Given the description of an element on the screen output the (x, y) to click on. 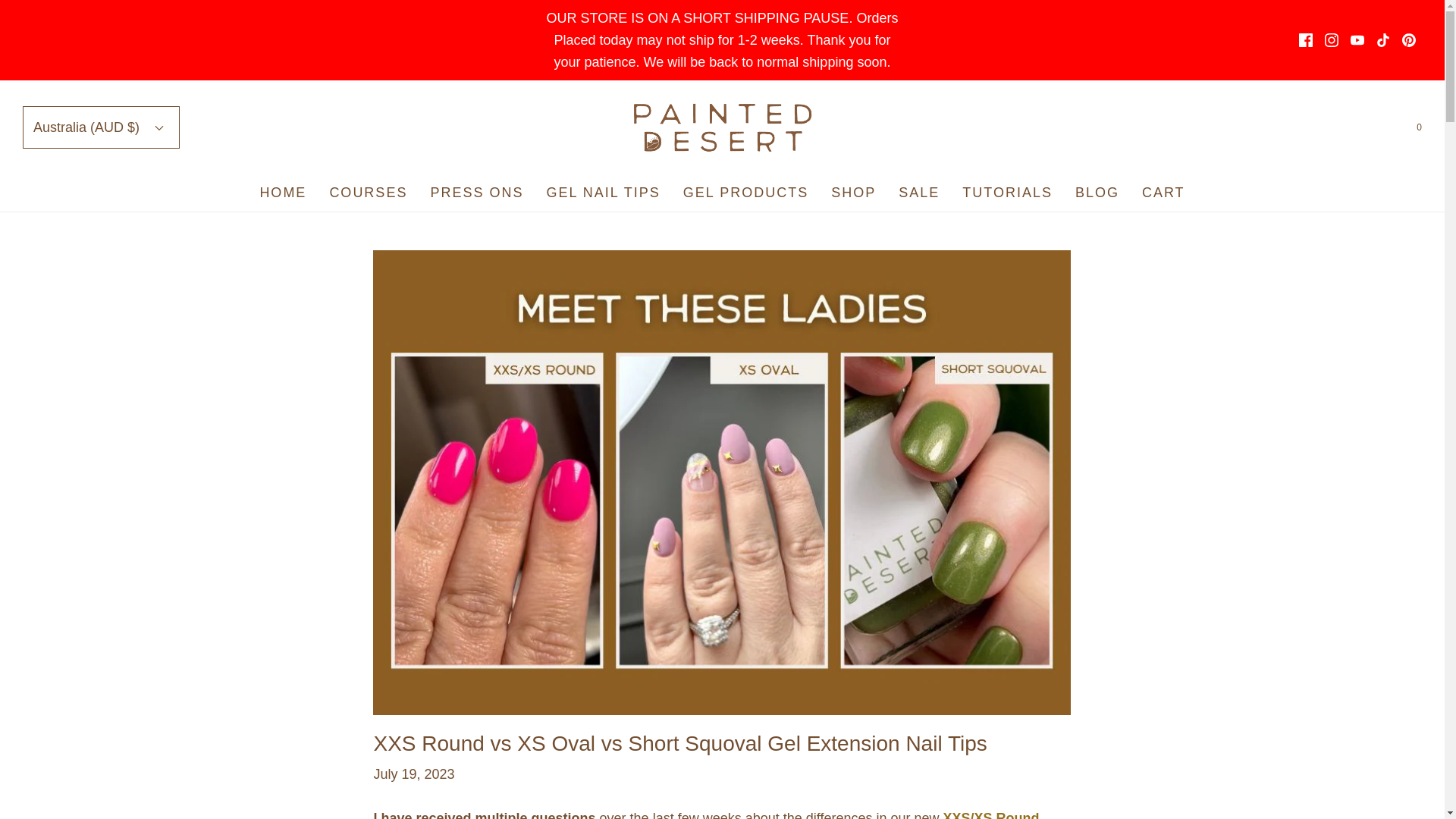
Facebook icon (1305, 40)
HOME (282, 192)
Facebook icon (1305, 39)
XXS Round Gel Nail Tips (705, 814)
TikTok icon (1383, 40)
Pinterest icon (1408, 39)
Instagram icon (1331, 40)
TikTok icon (1382, 39)
Pinterest icon (1409, 40)
Instagram icon (1331, 39)
YouTube icon (1357, 39)
YouTube icon (1356, 40)
